Given the description of an element on the screen output the (x, y) to click on. 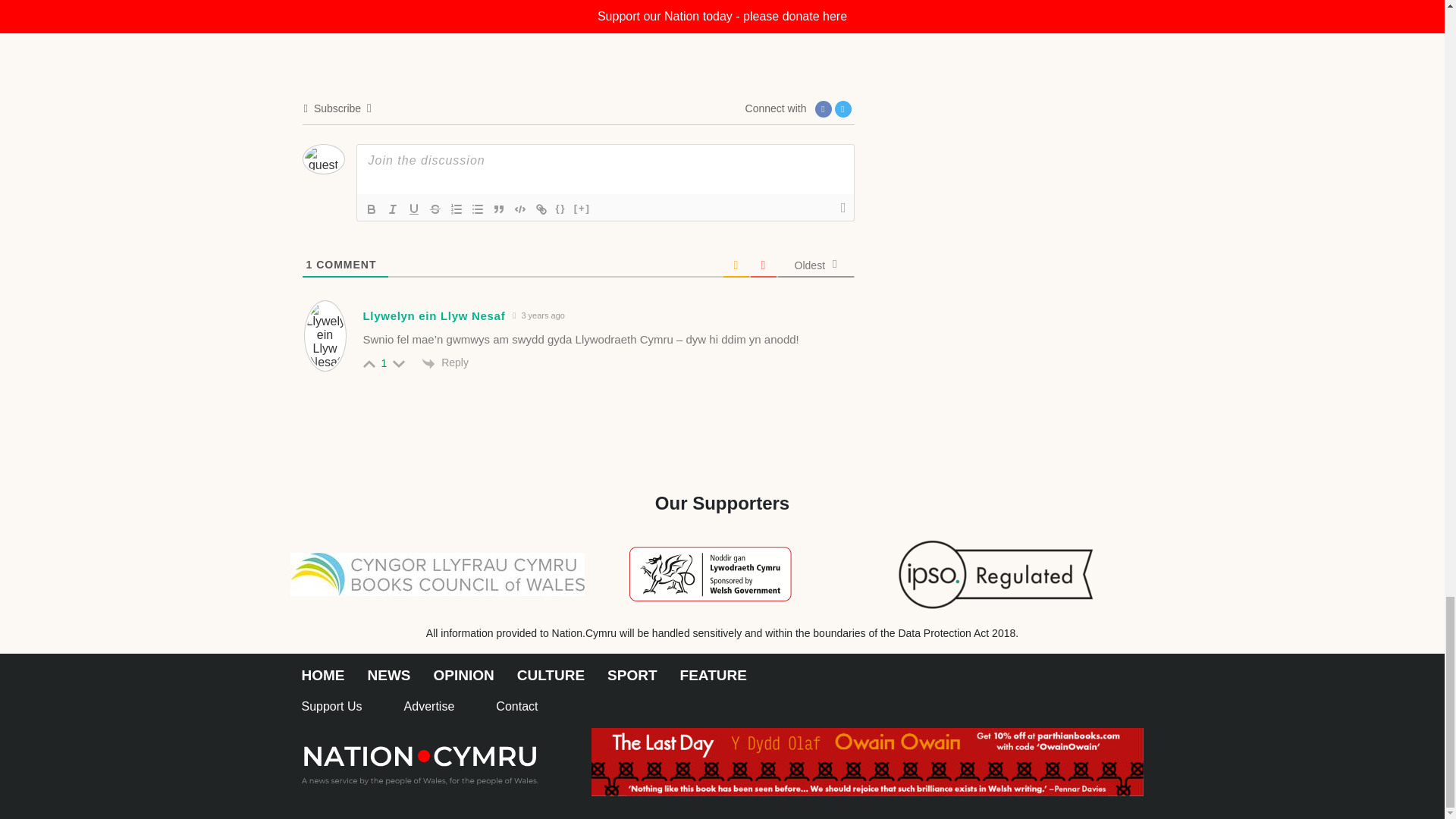
Spoiler (582, 208)
Bold (371, 208)
ordered (456, 208)
Underline (414, 208)
Blockquote (498, 208)
Italic (392, 208)
Code Block (520, 208)
Link (541, 208)
Unordered List (477, 208)
bullet (477, 208)
Ordered List (456, 208)
Strike (435, 208)
Source Code (560, 208)
